Given the description of an element on the screen output the (x, y) to click on. 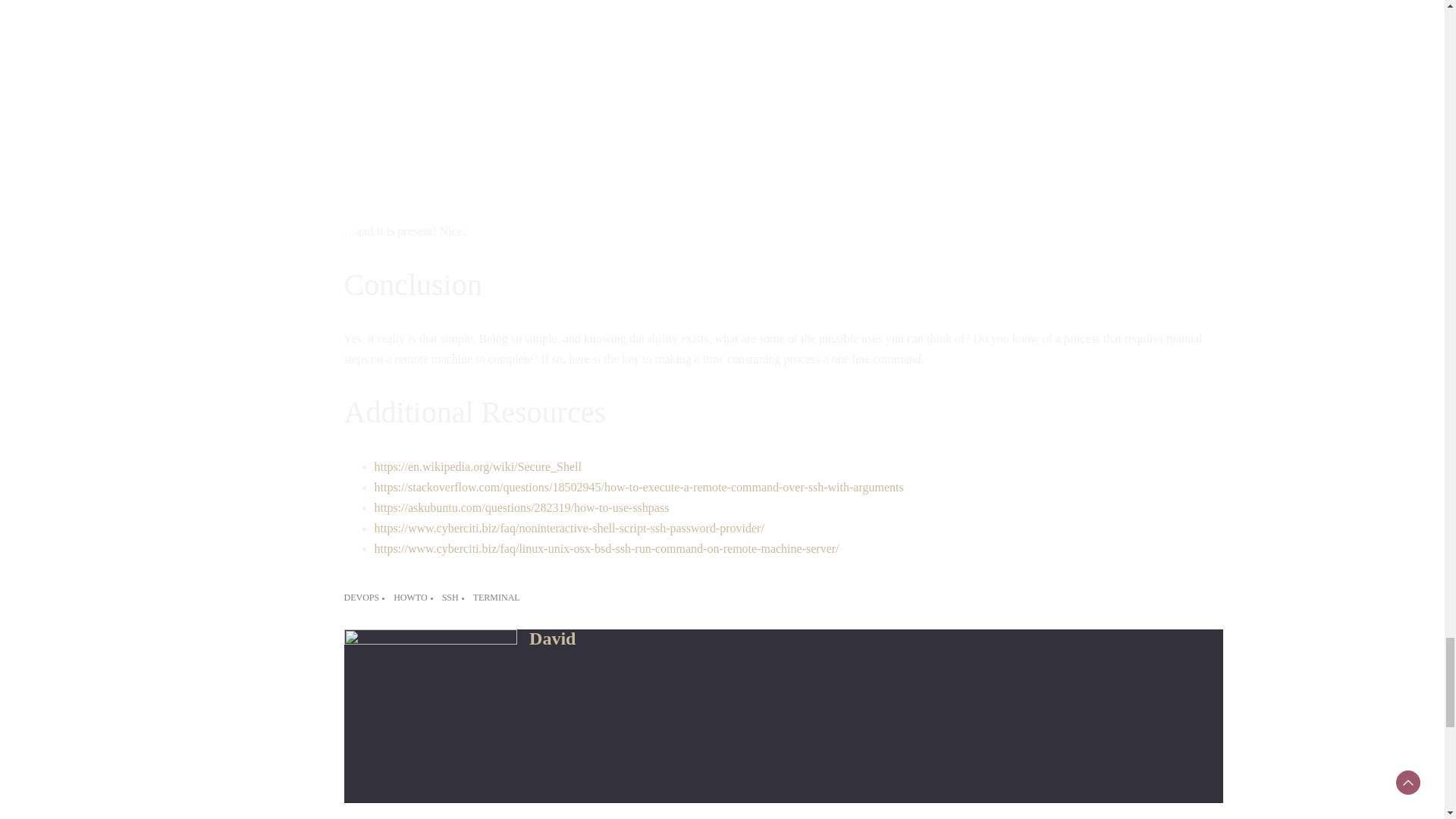
David (552, 638)
DEVOPS (365, 597)
SSH (454, 597)
HOWTO (414, 597)
TERMINAL (496, 597)
